Given the description of an element on the screen output the (x, y) to click on. 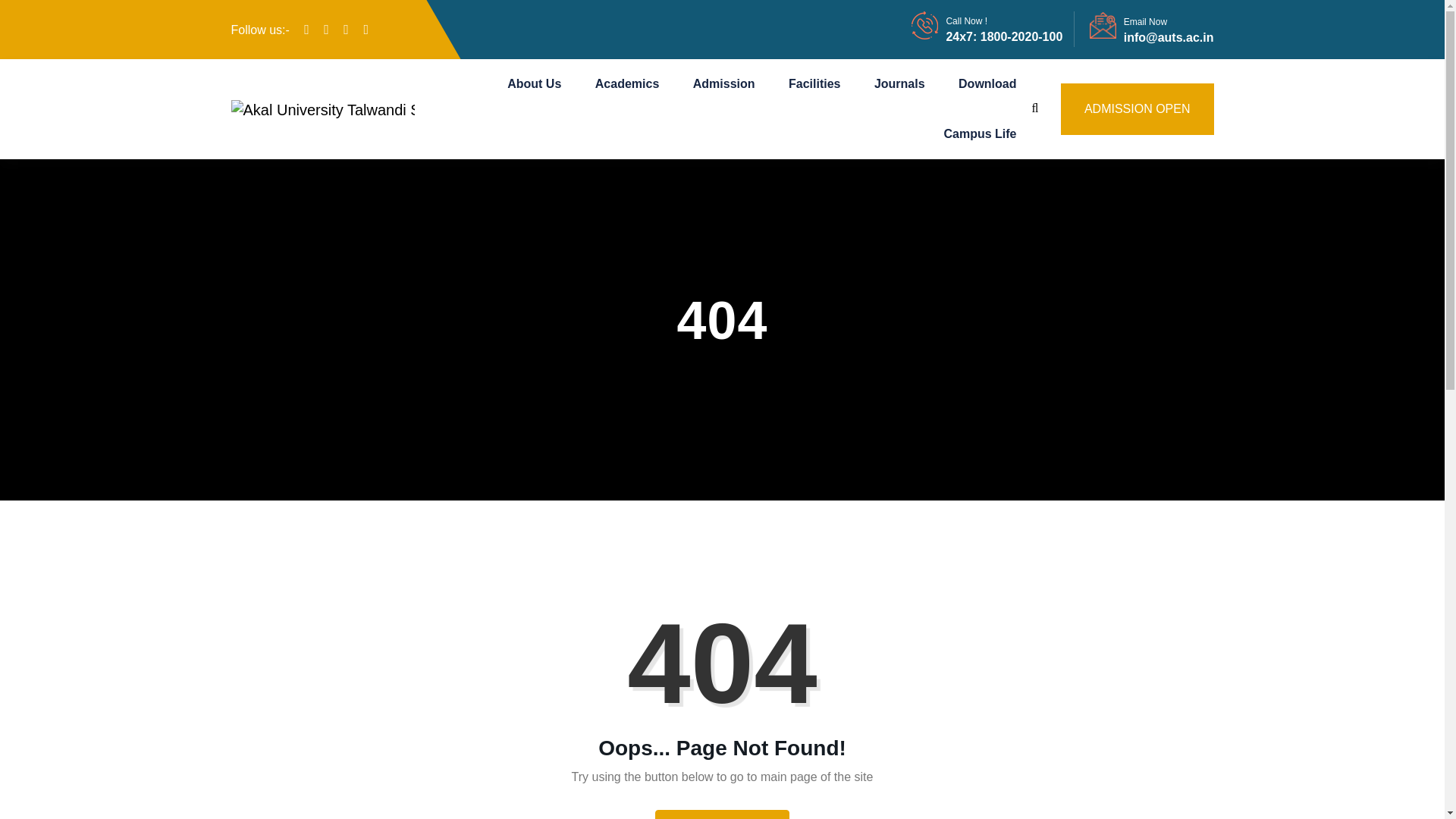
About Us (533, 83)
The First Choice Of Toppers (321, 109)
Academics (627, 83)
1800-2020-100 (1019, 36)
